Given the description of an element on the screen output the (x, y) to click on. 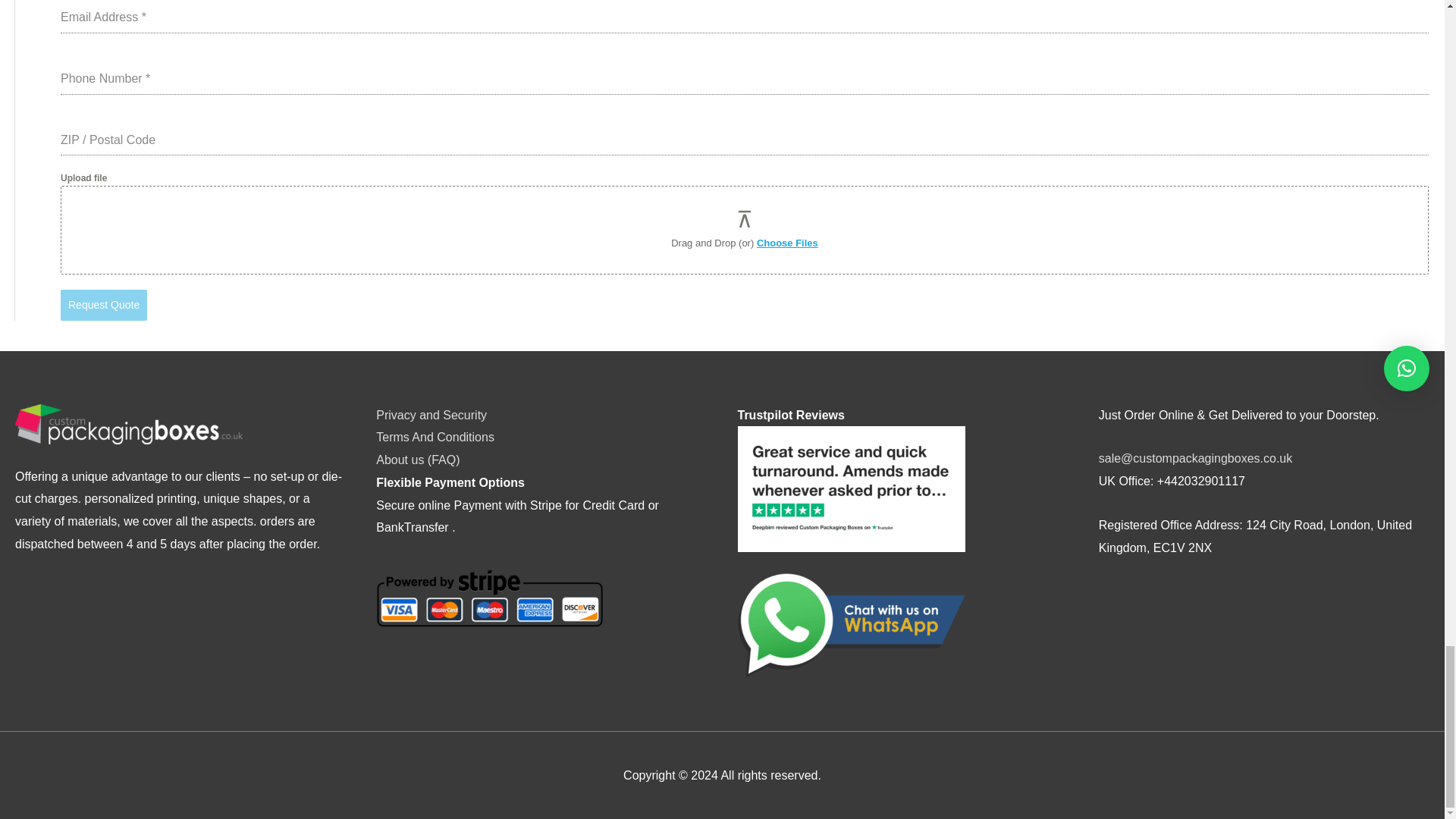
trustpilot-review-for customised packaging boxes uk (849, 488)
